Given the description of an element on the screen output the (x, y) to click on. 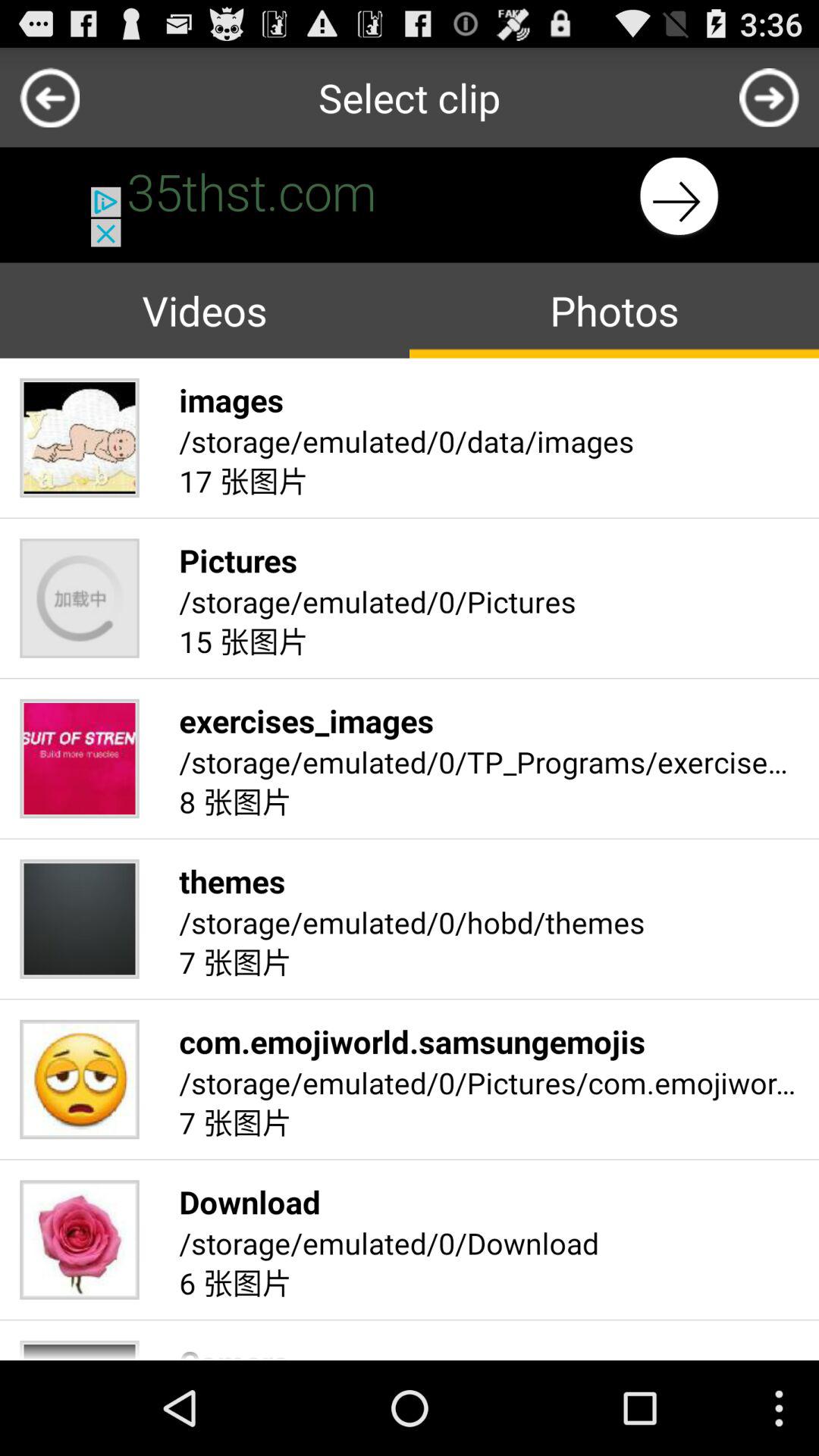
go back (49, 97)
